Given the description of an element on the screen output the (x, y) to click on. 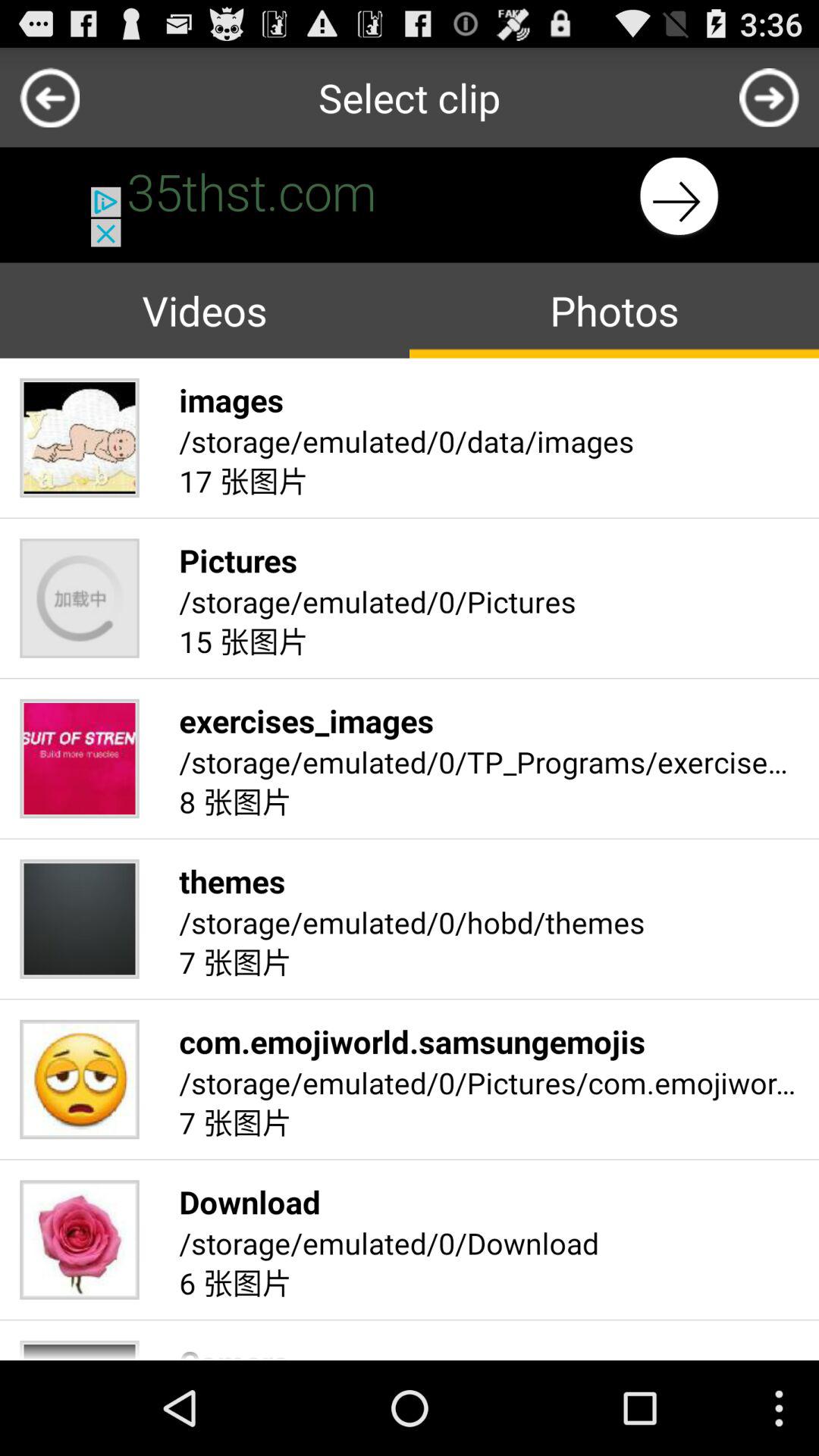
go back (49, 97)
